Given the description of an element on the screen output the (x, y) to click on. 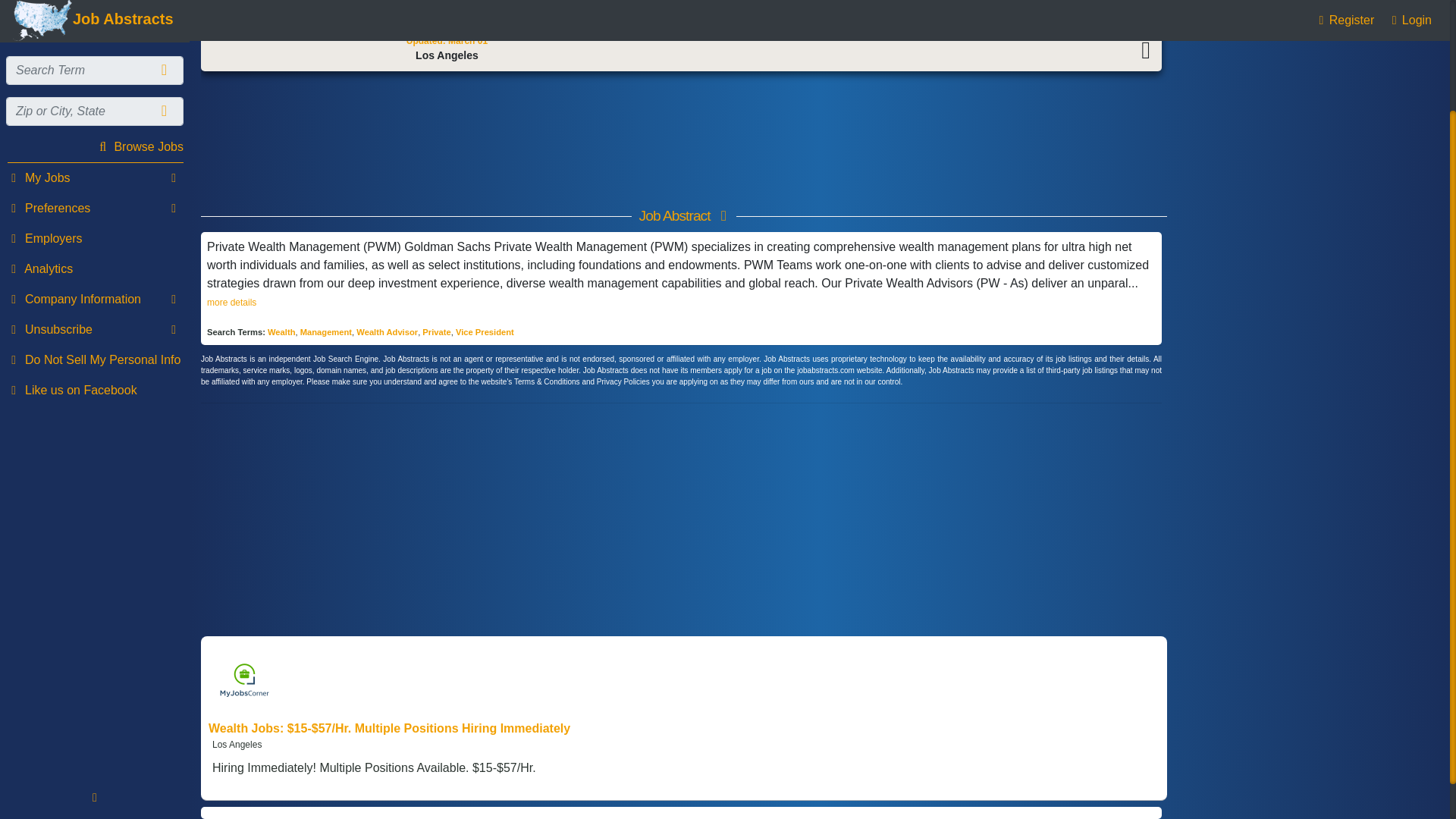
Company Information (94, 164)
Analytics (94, 133)
Wealth Advisor (386, 331)
Unsubscribe (94, 194)
My Jobs (94, 42)
Management (325, 331)
Vice President (484, 331)
Browse Jobs (94, 13)
Do Not Sell My Personal Info (94, 224)
Like us on Facebook (94, 255)
